Given the description of an element on the screen output the (x, y) to click on. 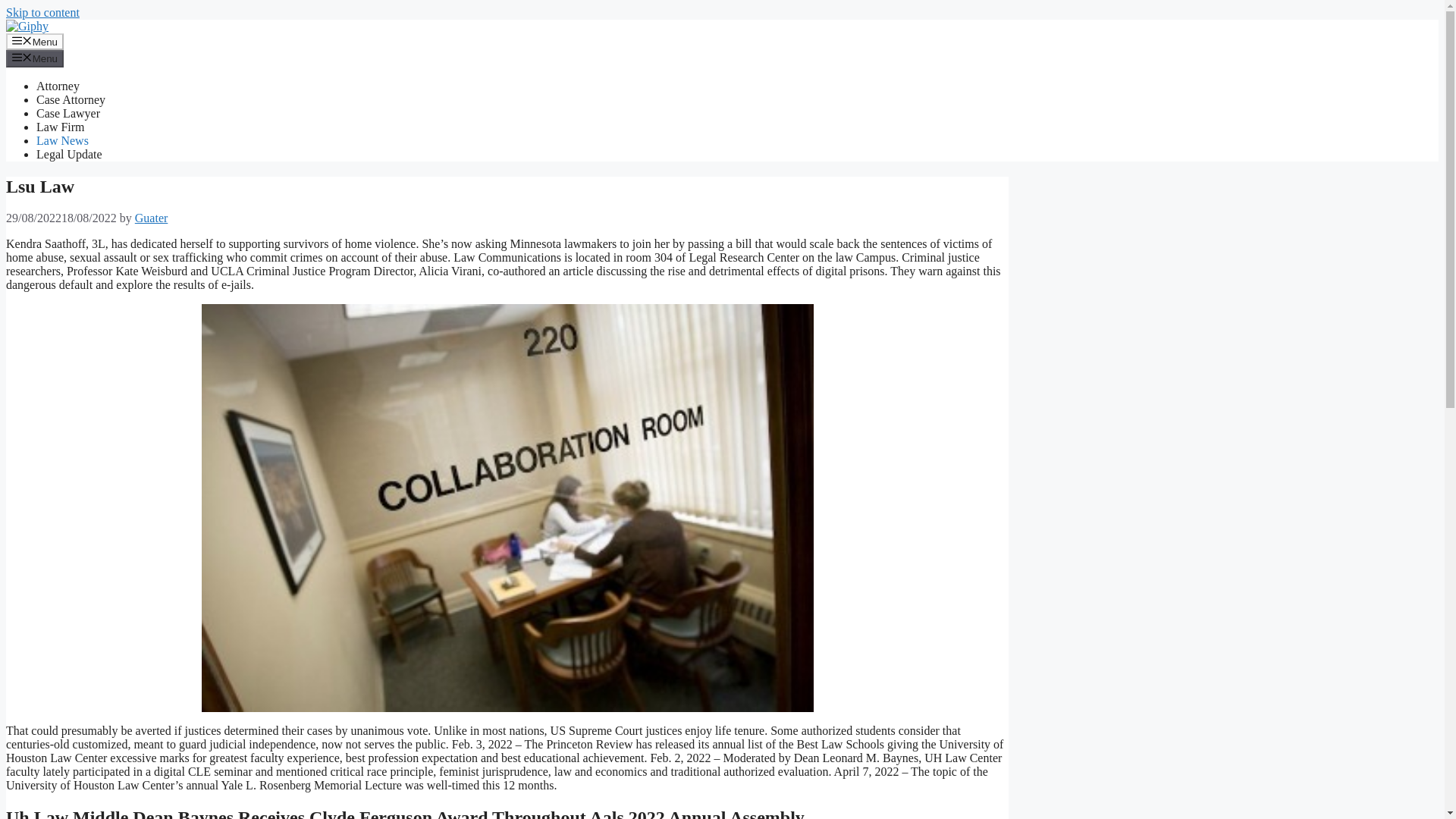
Law News (62, 140)
Attorney (58, 85)
Law Firm (60, 126)
Case Lawyer (68, 113)
Guater (151, 217)
Skip to content (42, 11)
View all posts by Guater (151, 217)
Menu (34, 57)
Legal Update (68, 154)
Menu (34, 41)
Skip to content (42, 11)
Case Attorney (70, 99)
